Given the description of an element on the screen output the (x, y) to click on. 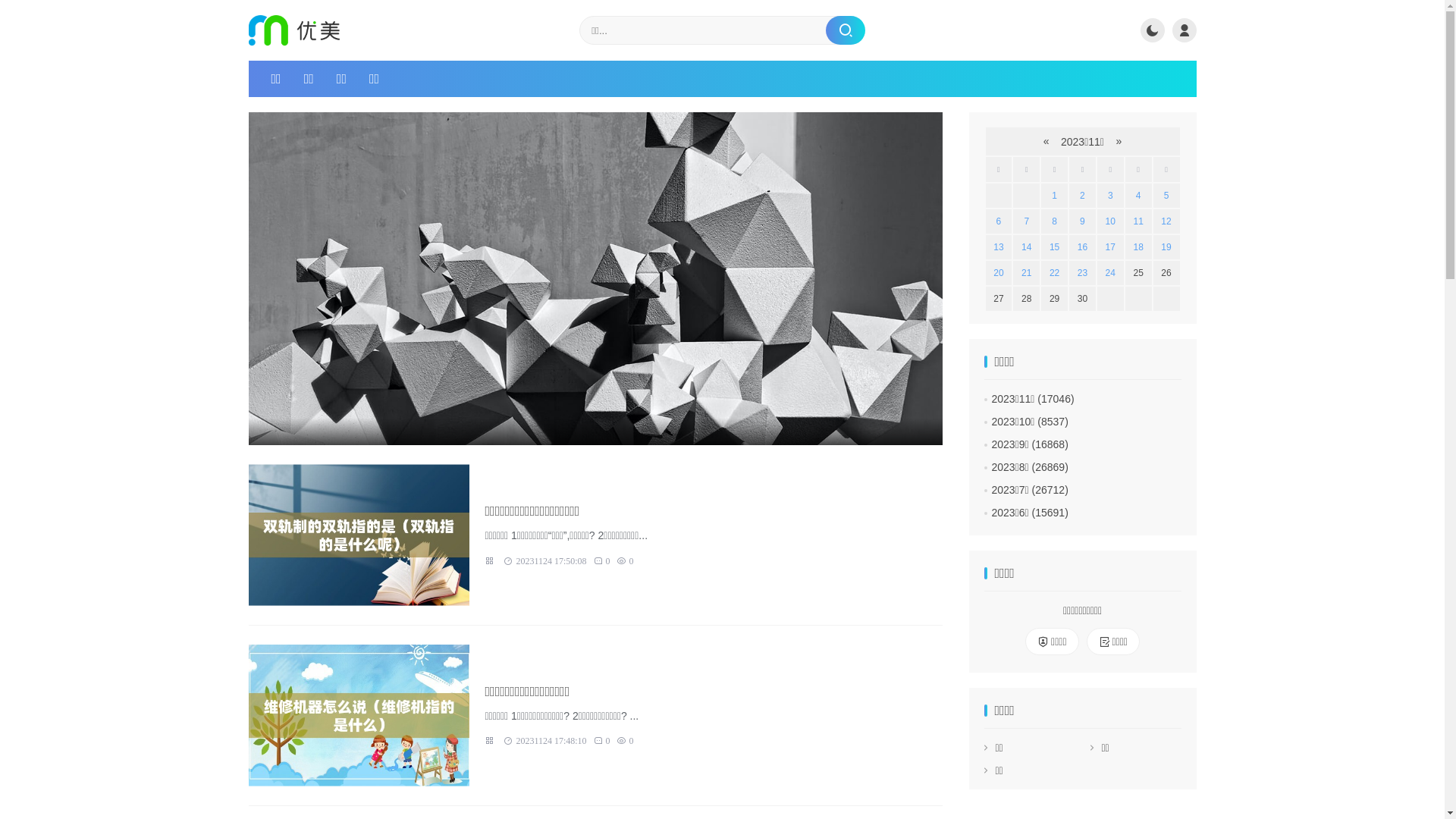
13 Element type: text (998, 246)
6 Element type: text (998, 221)
23 Element type: text (1082, 272)
4 Element type: text (1138, 195)
20 Element type: text (998, 272)
8 Element type: text (1054, 221)
3 Element type: text (1110, 195)
15 Element type: text (1054, 246)
24 Element type: text (1110, 272)
18 Element type: text (1137, 246)
9 Element type: text (1082, 221)
5 Element type: text (1166, 195)
12 Element type: text (1165, 221)
16 Element type: text (1082, 246)
2 Element type: text (1082, 195)
7 Element type: text (1026, 221)
22 Element type: text (1054, 272)
11 Element type: text (1137, 221)
17 Element type: text (1110, 246)
1 Element type: text (1054, 195)
21 Element type: text (1026, 272)
19 Element type: text (1165, 246)
14 Element type: text (1026, 246)
10 Element type: text (1110, 221)
